Given the description of an element on the screen output the (x, y) to click on. 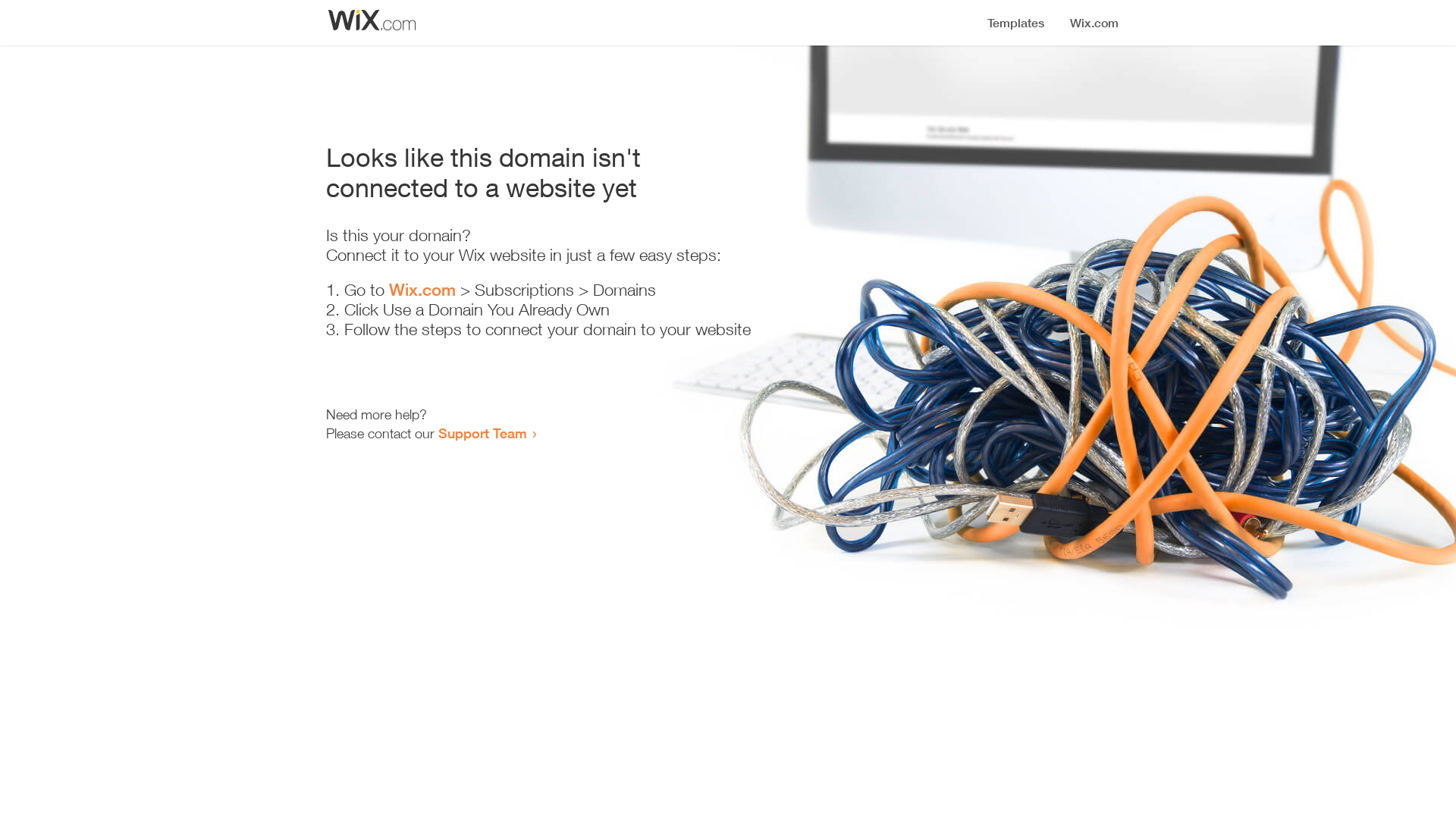
Wix.com Element type: text (422, 289)
Support Team Element type: text (482, 432)
